Given the description of an element on the screen output the (x, y) to click on. 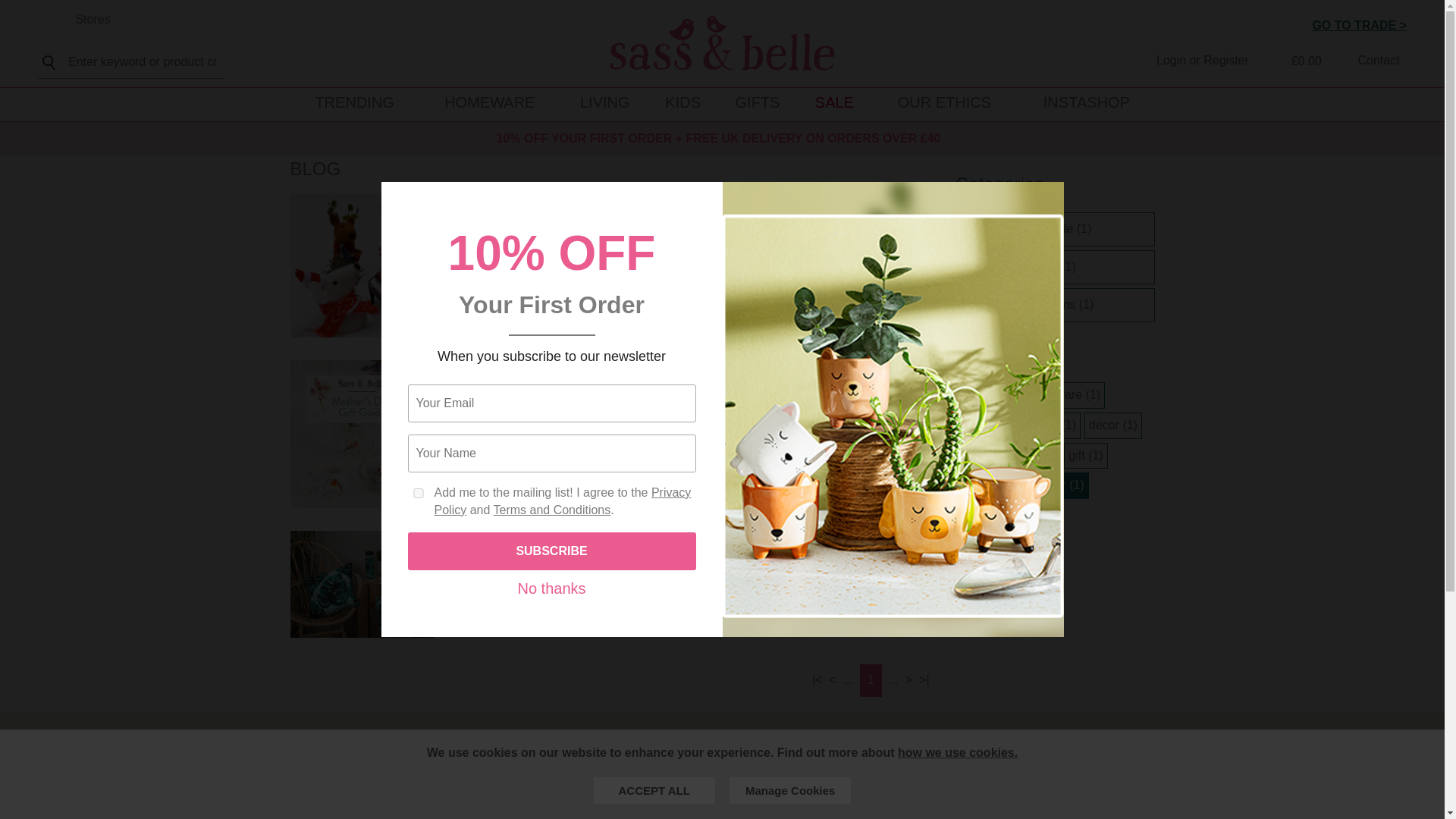
TRENDING (353, 102)
Bestsellers (353, 102)
go (46, 63)
Manage Cookies (789, 790)
1 (418, 492)
No thanks (551, 588)
close (1048, 197)
Login or Register (1192, 60)
ACCEPT ALL (654, 790)
Contact (1366, 60)
Home (721, 42)
how we use cookies. (957, 752)
Terms and Conditions (551, 509)
Login or Register (1192, 60)
Stores (73, 19)
